Given the description of an element on the screen output the (x, y) to click on. 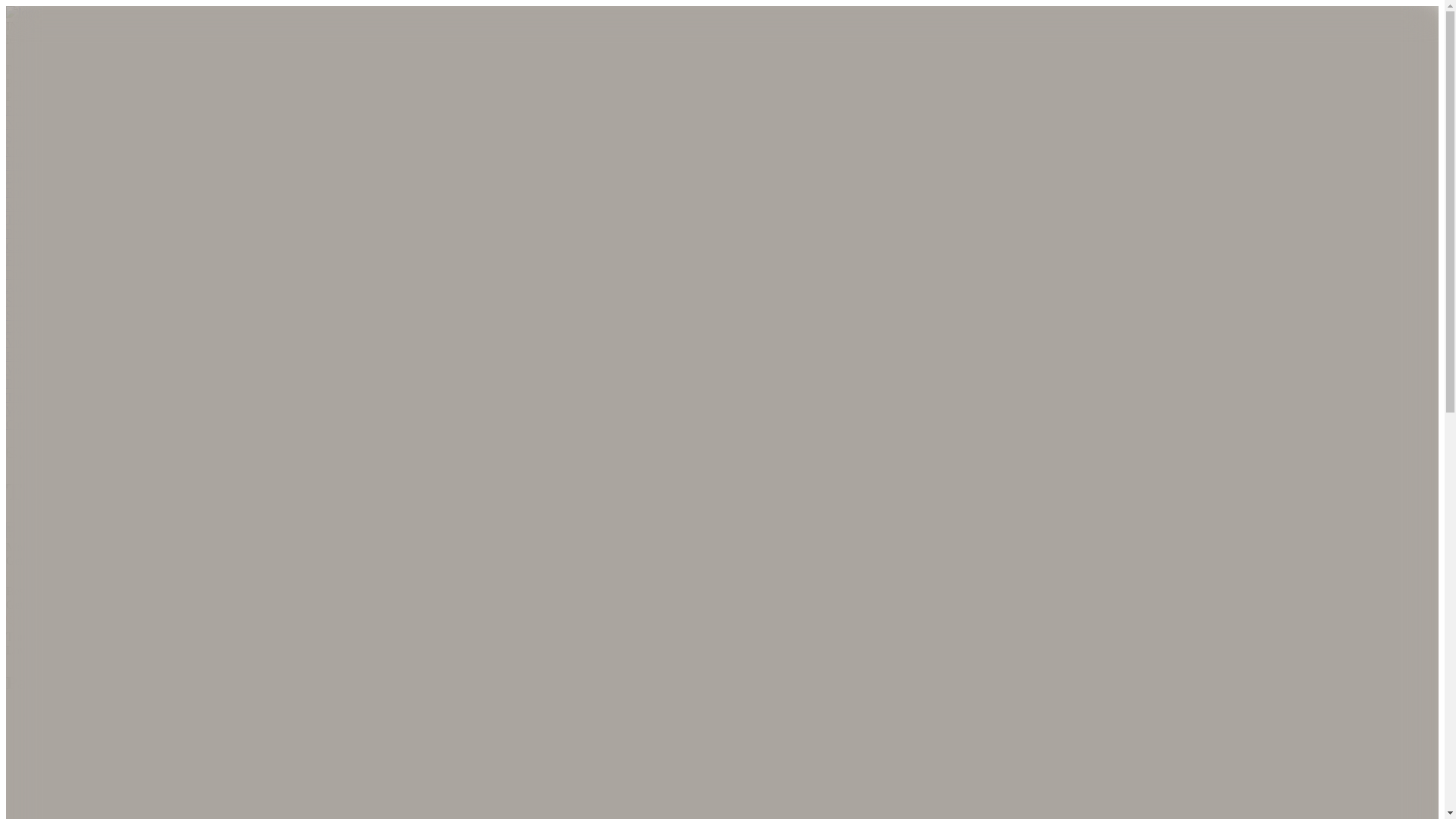
Teddy Bear Museum Pattaya Tickets (94, 219)
Visit Art In Paradise Pattaya (73, 341)
Khao Khew Open Zoo Tickets (79, 205)
Explore Wat Yansangwararam (78, 355)
Underwater World Pattaya Tickets (89, 151)
Pattaya Sheep Farm Tickets (73, 232)
Ramayana Water Park Tickets (78, 192)
Elephant Village Pattaya Tickets (84, 178)
Nong Nooch Tropical Garden Tickets (97, 123)
Visit Legend Siam (50, 369)
